Given the description of an element on the screen output the (x, y) to click on. 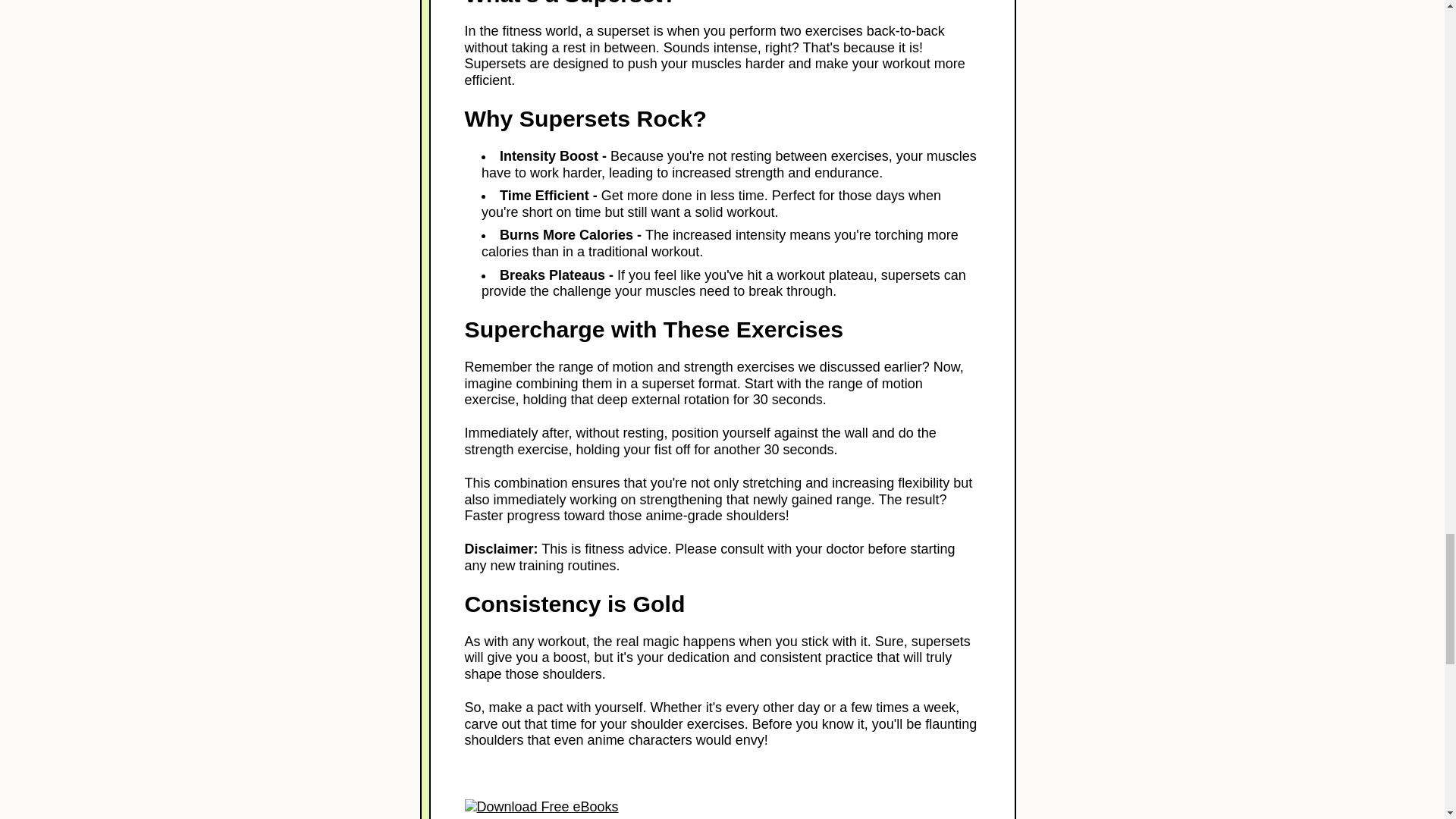
The Ultimate Mobility Collection (721, 807)
